Given the description of an element on the screen output the (x, y) to click on. 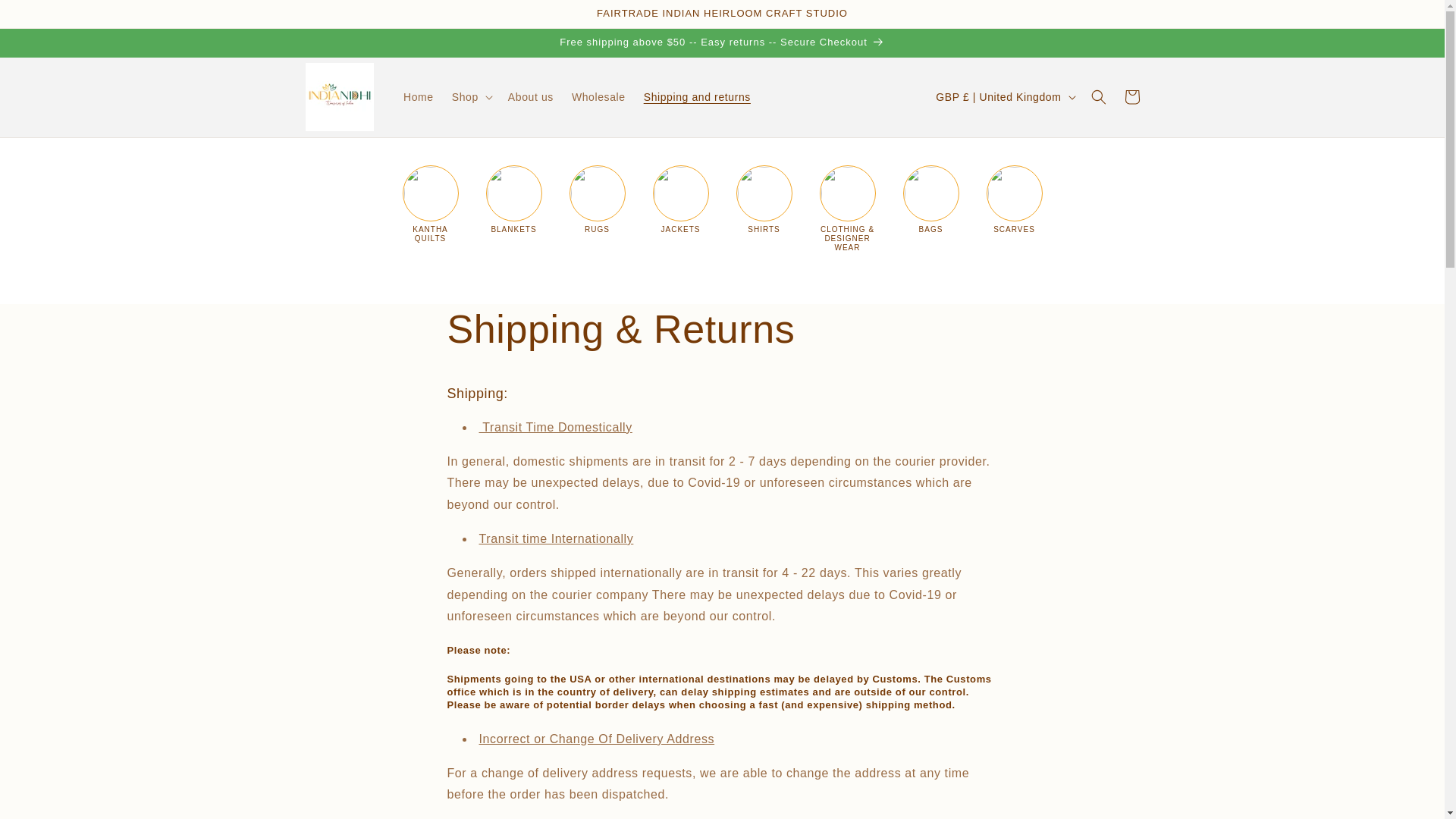
Skip to content (45, 17)
